Given the description of an element on the screen output the (x, y) to click on. 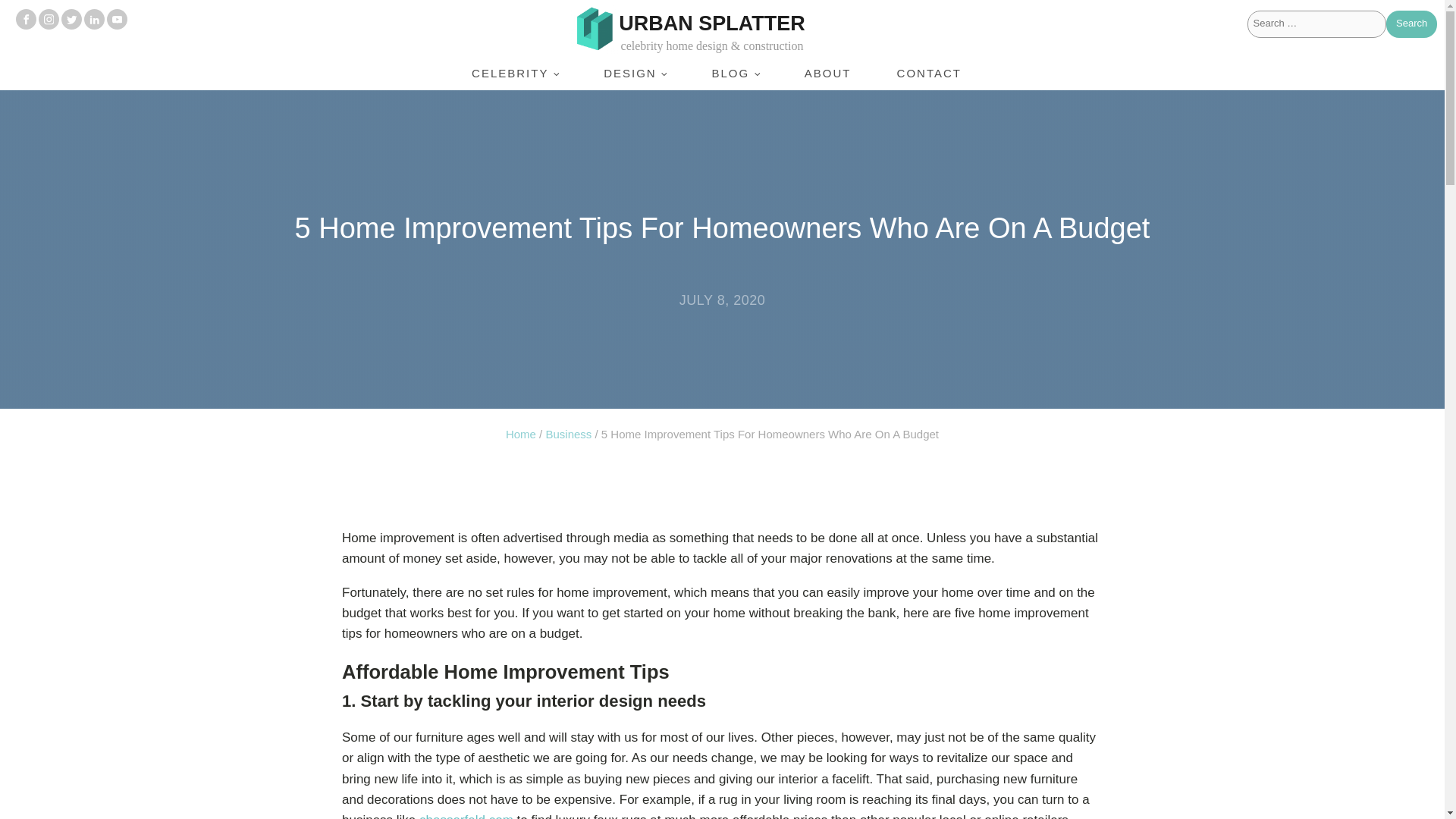
BLOG (734, 73)
CELEBRITY (514, 73)
Search (1411, 23)
DESIGN (634, 73)
Search (1411, 23)
Search (1411, 23)
